Given the description of an element on the screen output the (x, y) to click on. 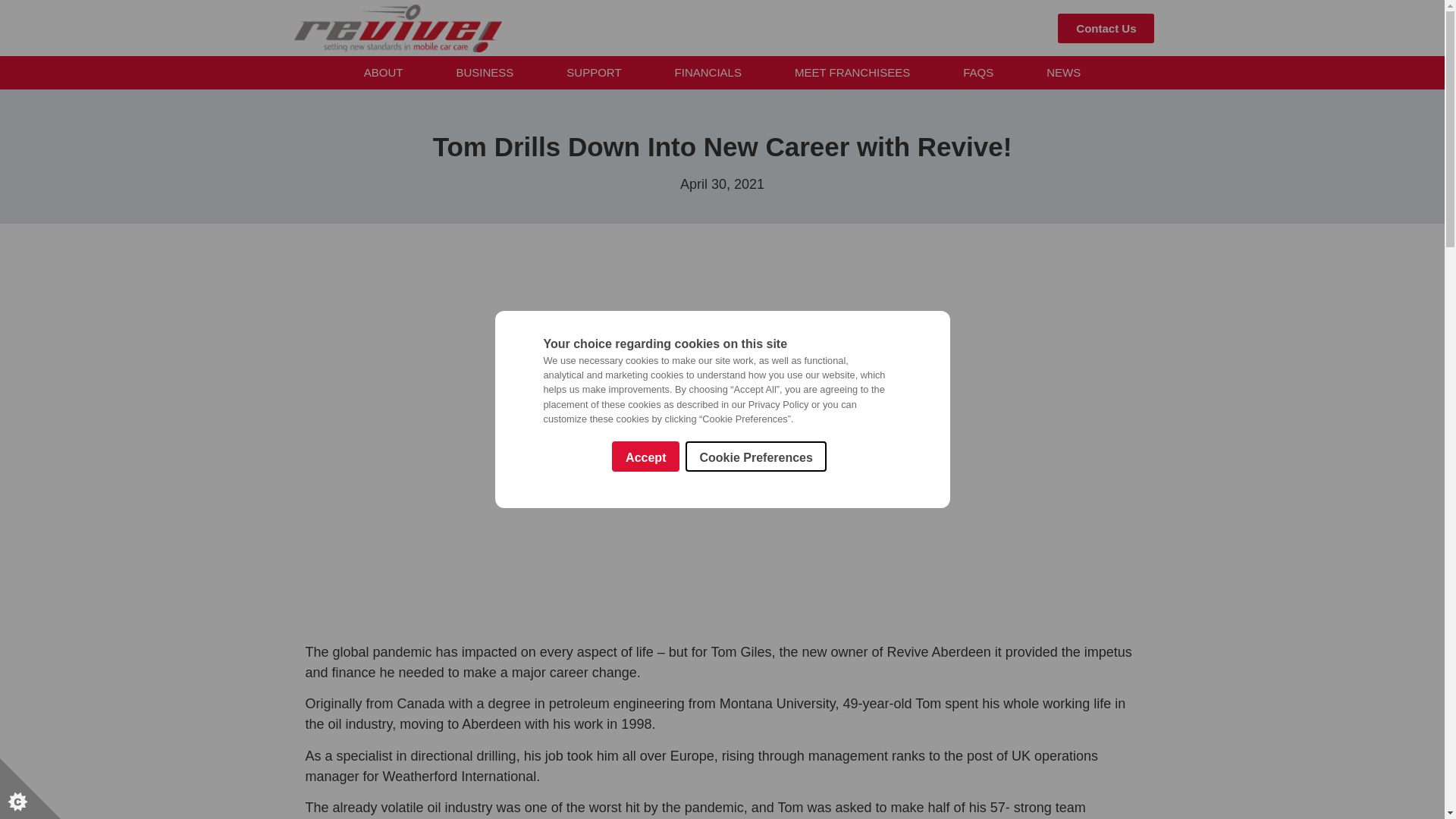
SUPPORT (593, 72)
FINANCIALS (708, 72)
Accept (645, 699)
NEWS (1063, 72)
Contact Us (1106, 28)
FAQS (978, 72)
BUSINESS (484, 72)
ABOUT (383, 72)
MEET FRANCHISEES (851, 72)
Cookie Preferences (755, 644)
REVIVE LOGO (398, 28)
